Given the description of an element on the screen output the (x, y) to click on. 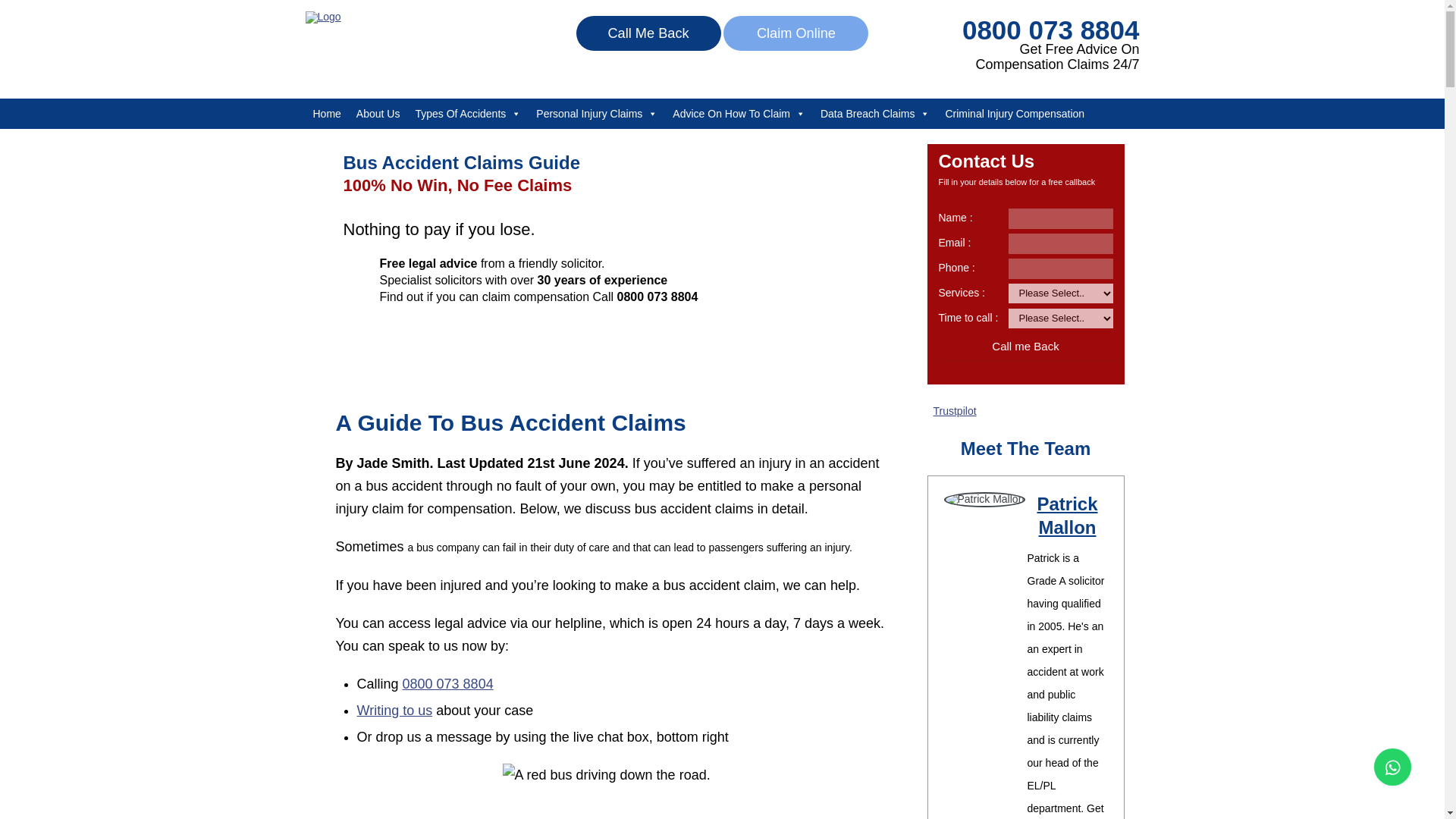
About Us (378, 113)
Home (325, 113)
Claim Online (795, 32)
Patrick Mallon (1066, 515)
Call Me Back (648, 32)
Types Of Accidents (467, 113)
Call me Back (1026, 346)
Bus accident compensation (615, 791)
Legal Expert (322, 16)
